Given the description of an element on the screen output the (x, y) to click on. 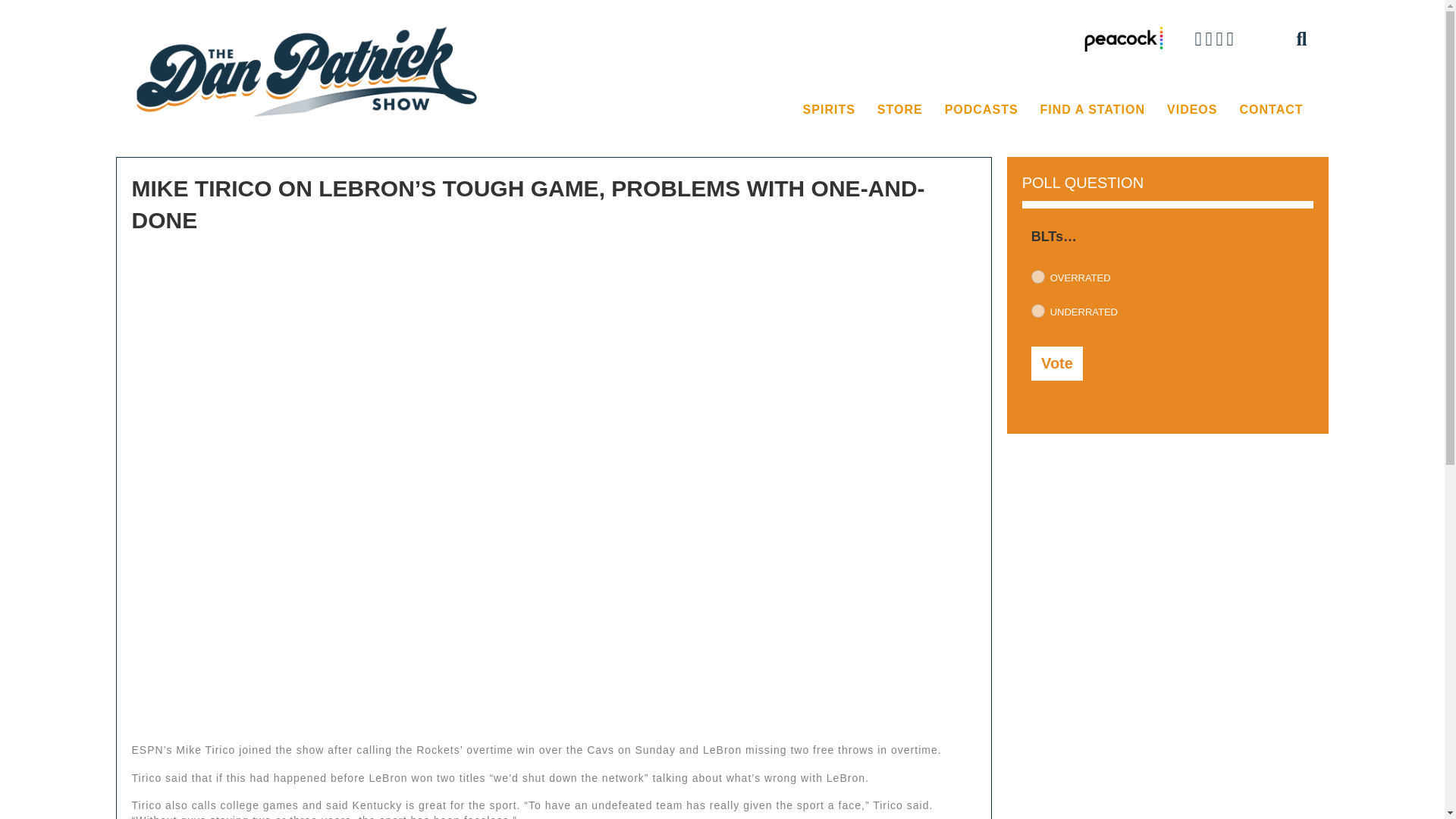
63177634 (1037, 310)
VIDEOS (1191, 109)
SPIRITS (829, 109)
STORE (899, 109)
CONTACT (1270, 109)
Vote (1056, 363)
FIND A STATION (1092, 109)
63177633 (1037, 276)
PODCASTS (981, 109)
logo (309, 70)
